Given the description of an element on the screen output the (x, y) to click on. 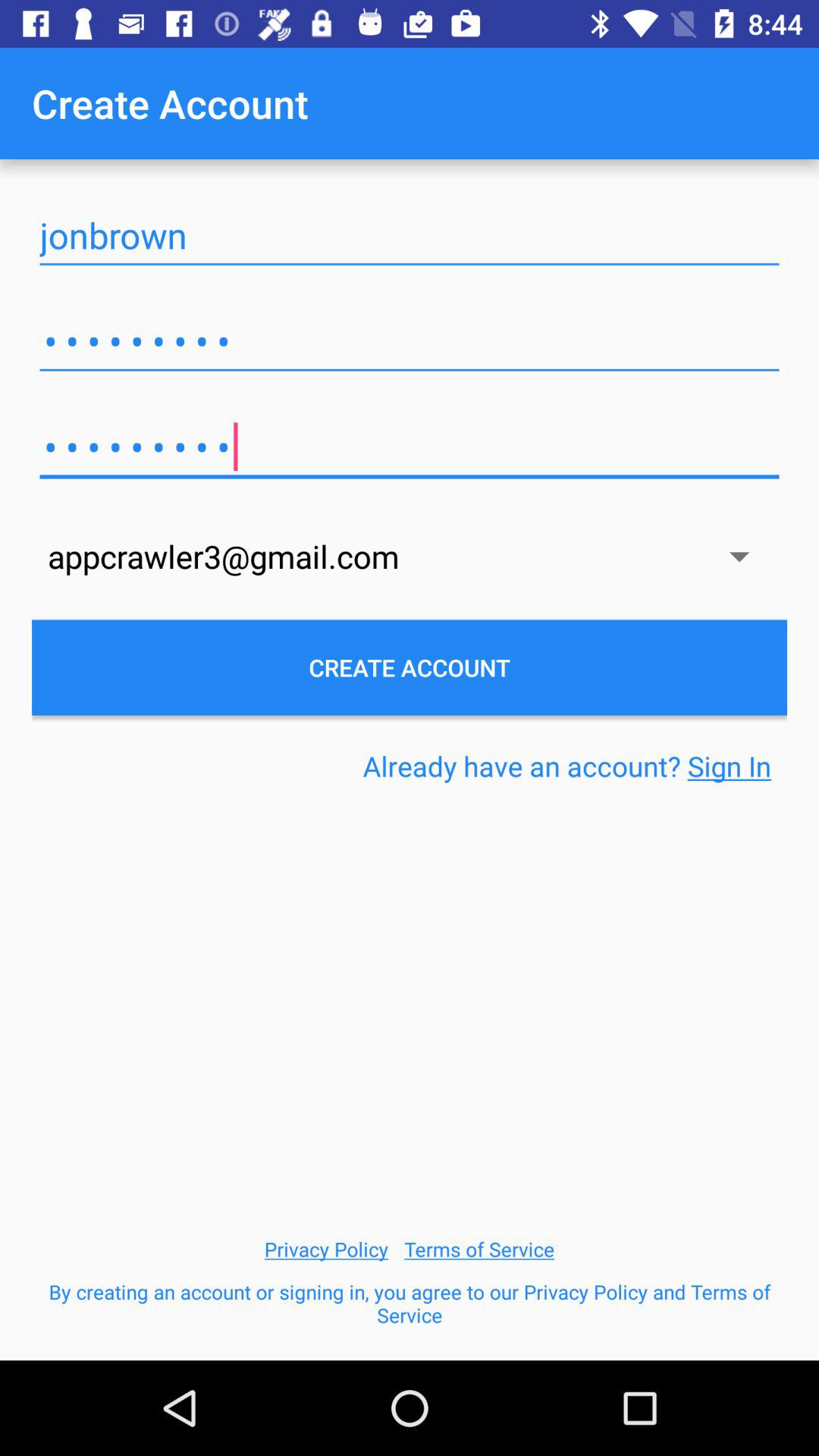
press the already have an item (566, 765)
